Given the description of an element on the screen output the (x, y) to click on. 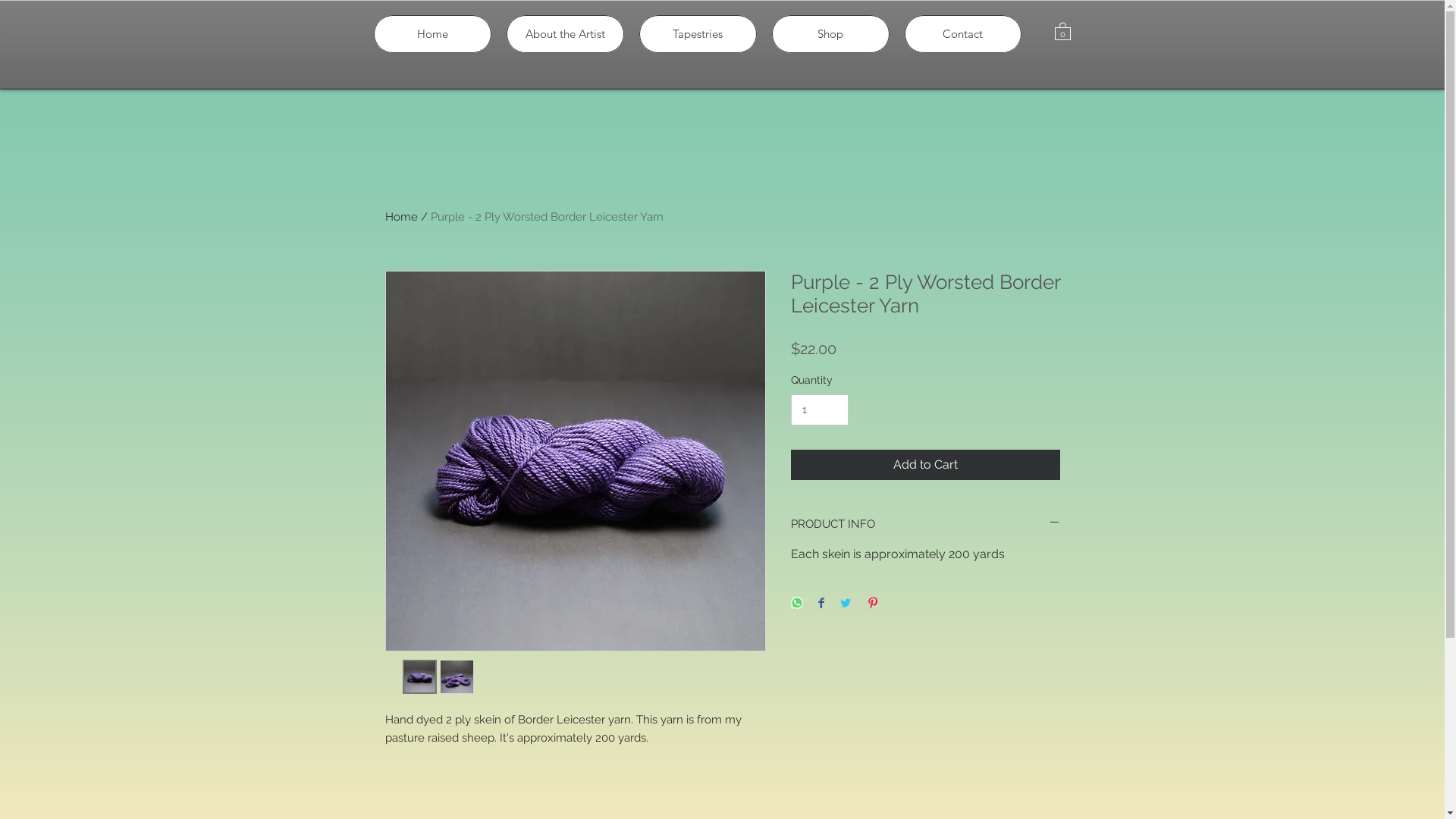
PRODUCT INFO Element type: text (924, 524)
Tapestries Element type: text (697, 34)
Contact Element type: text (961, 34)
Add to Cart Element type: text (924, 464)
0 Element type: text (1062, 30)
Home Element type: text (401, 216)
Shop Element type: text (830, 34)
About the Artist Element type: text (565, 34)
Home Element type: text (431, 34)
Purple - 2 Ply Worsted Border Leicester Yarn Element type: text (546, 216)
